Given the description of an element on the screen output the (x, y) to click on. 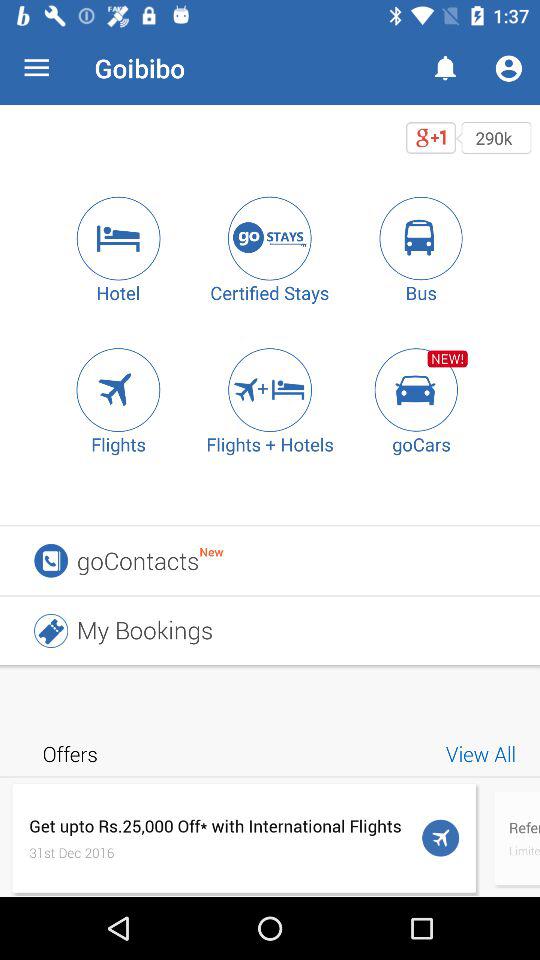
search for hotel (118, 238)
